Given the description of an element on the screen output the (x, y) to click on. 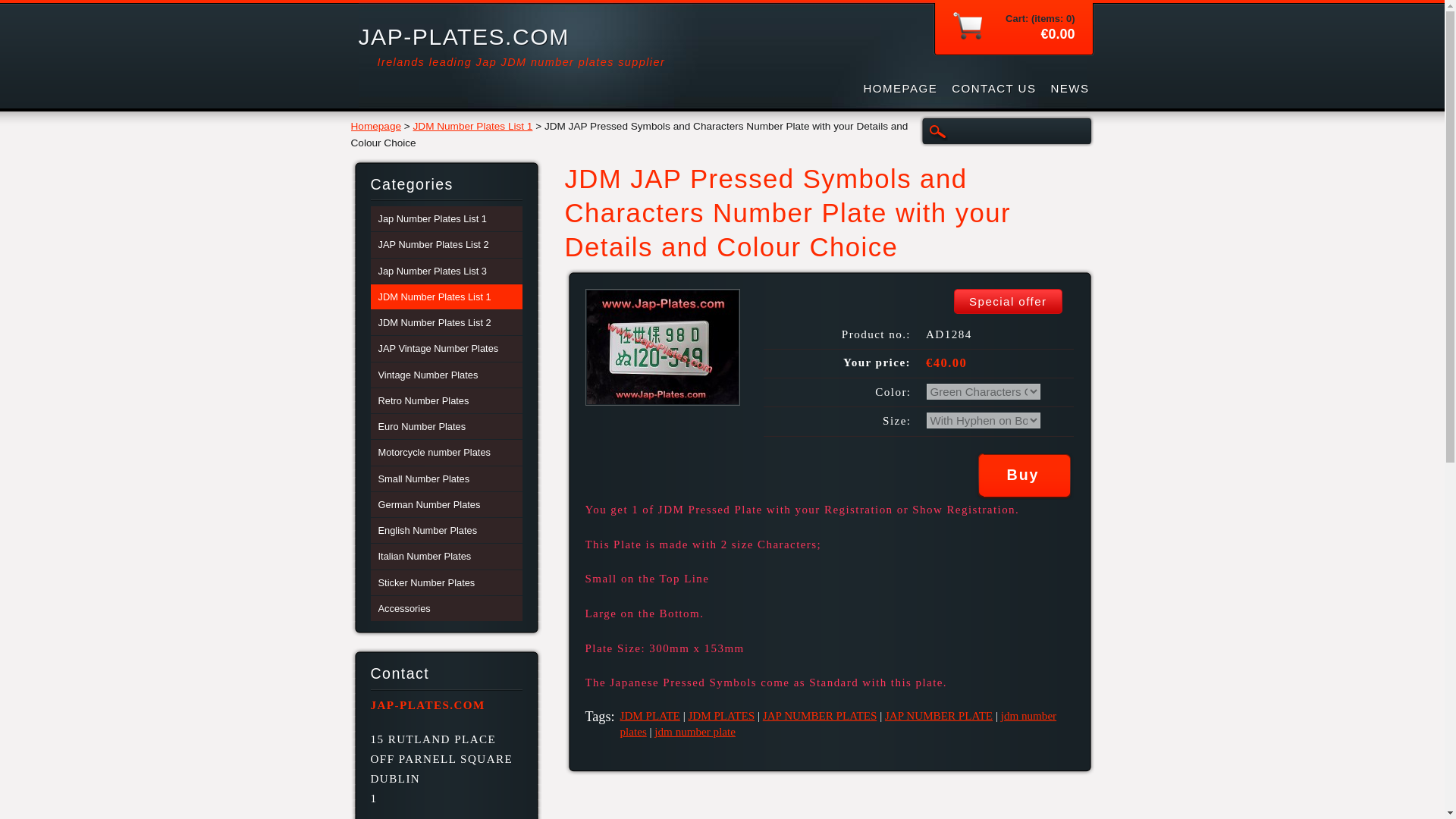
HOMEPAGE (900, 87)
jdm number plate (694, 731)
Euro Number Plates (445, 426)
Sticker Number Plates (445, 582)
Vintage Number Plates (445, 374)
Homepage (375, 125)
Motorcycle number Plates (445, 452)
Page will display in a new window. (662, 400)
Jap Number Plates List 3 (445, 270)
JAP-PLATES.COM (463, 36)
JAP Number Plates List 2 (445, 244)
JDM Number Plates List 1 (472, 125)
Go to Homepage. (463, 36)
CONTACT US (994, 87)
JAP NUMBER PLATE (938, 715)
